Given the description of an element on the screen output the (x, y) to click on. 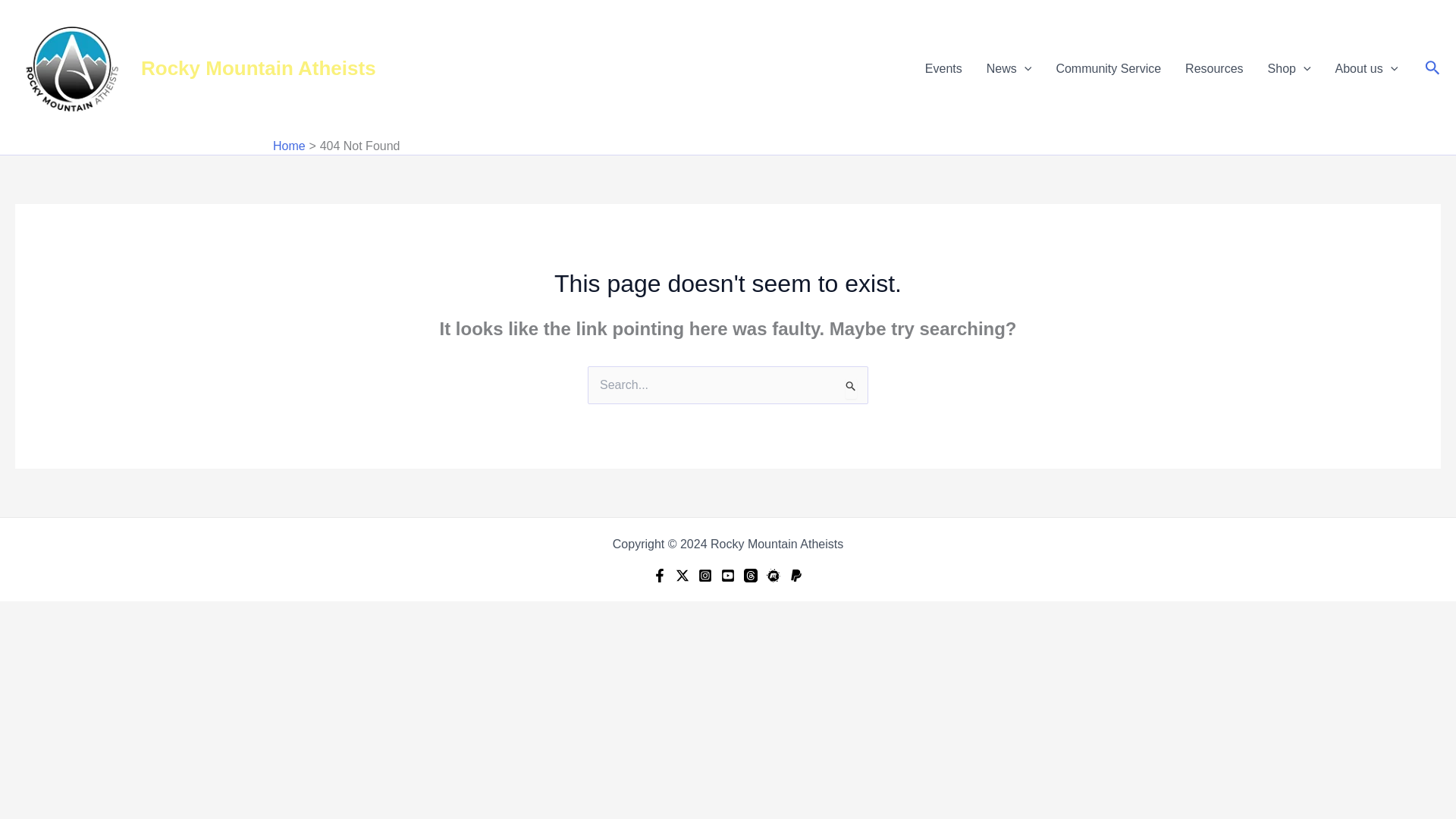
News (1008, 68)
About us (1366, 68)
Events (943, 68)
Rocky Mountain Atheists (258, 67)
Home (289, 145)
Shop (1289, 68)
Community Service (1108, 68)
Resources (1214, 68)
